Given the description of an element on the screen output the (x, y) to click on. 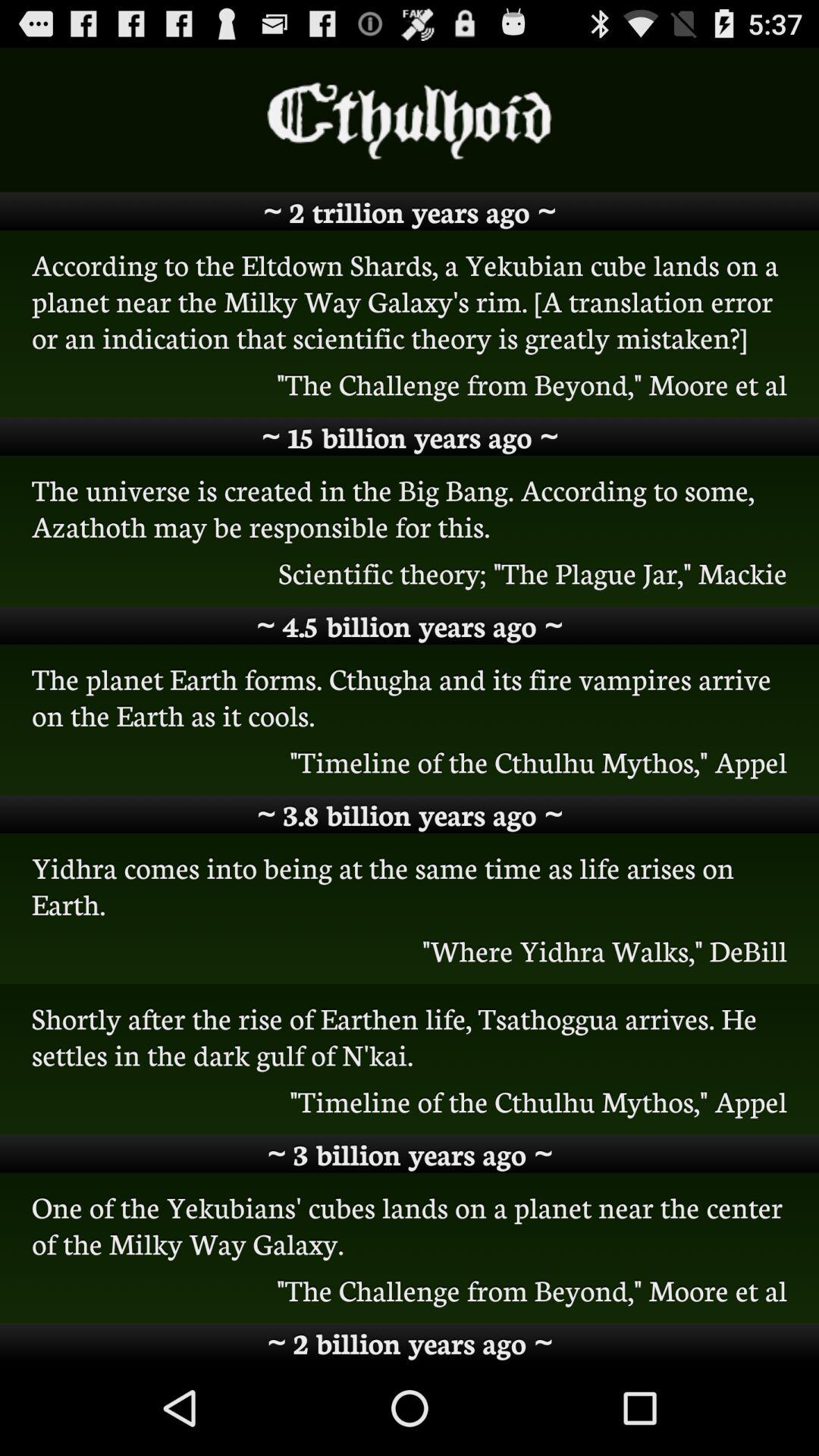
open shortly after the icon (409, 1035)
